Given the description of an element on the screen output the (x, y) to click on. 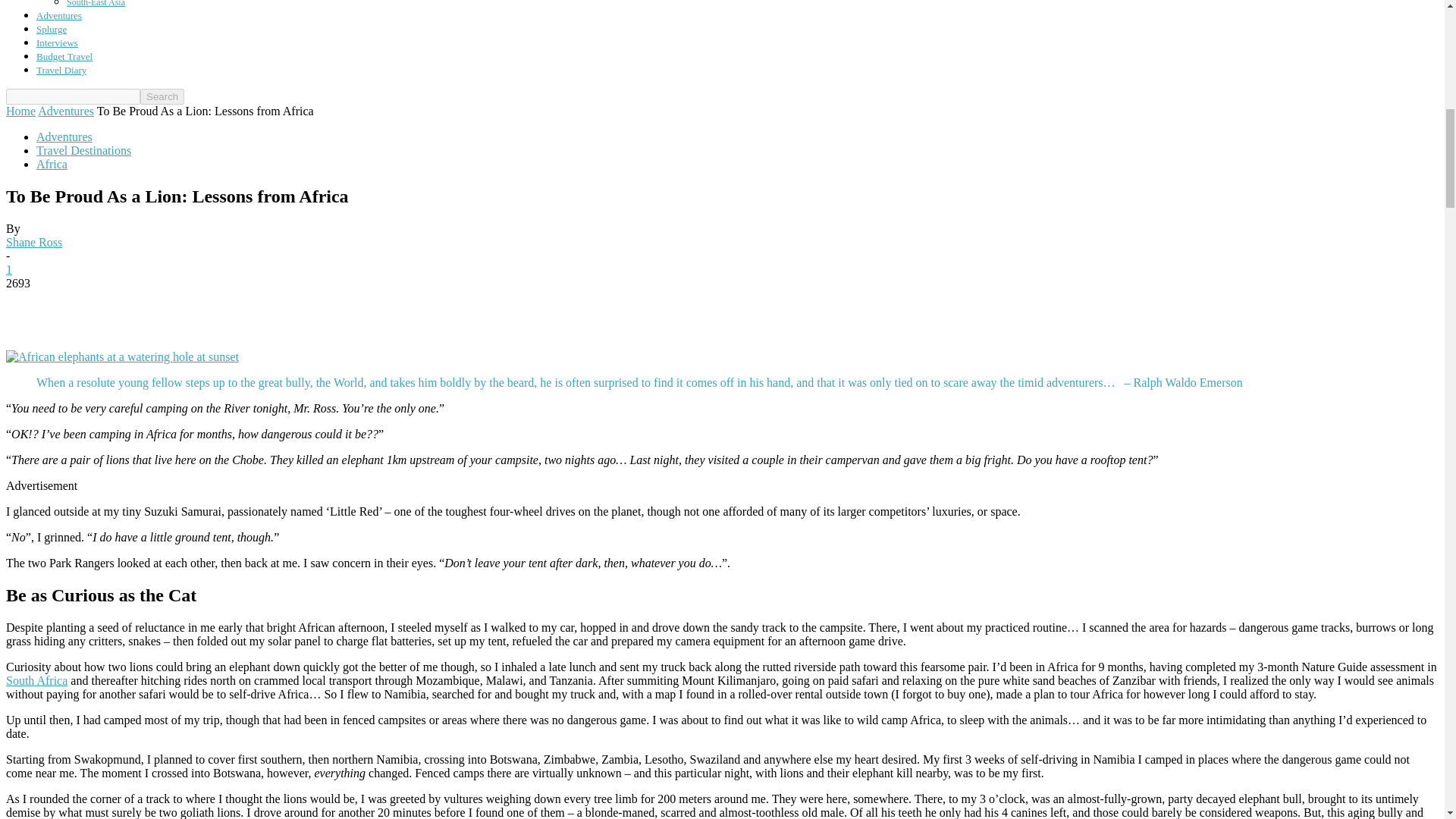
Search (161, 96)
